Given the description of an element on the screen output the (x, y) to click on. 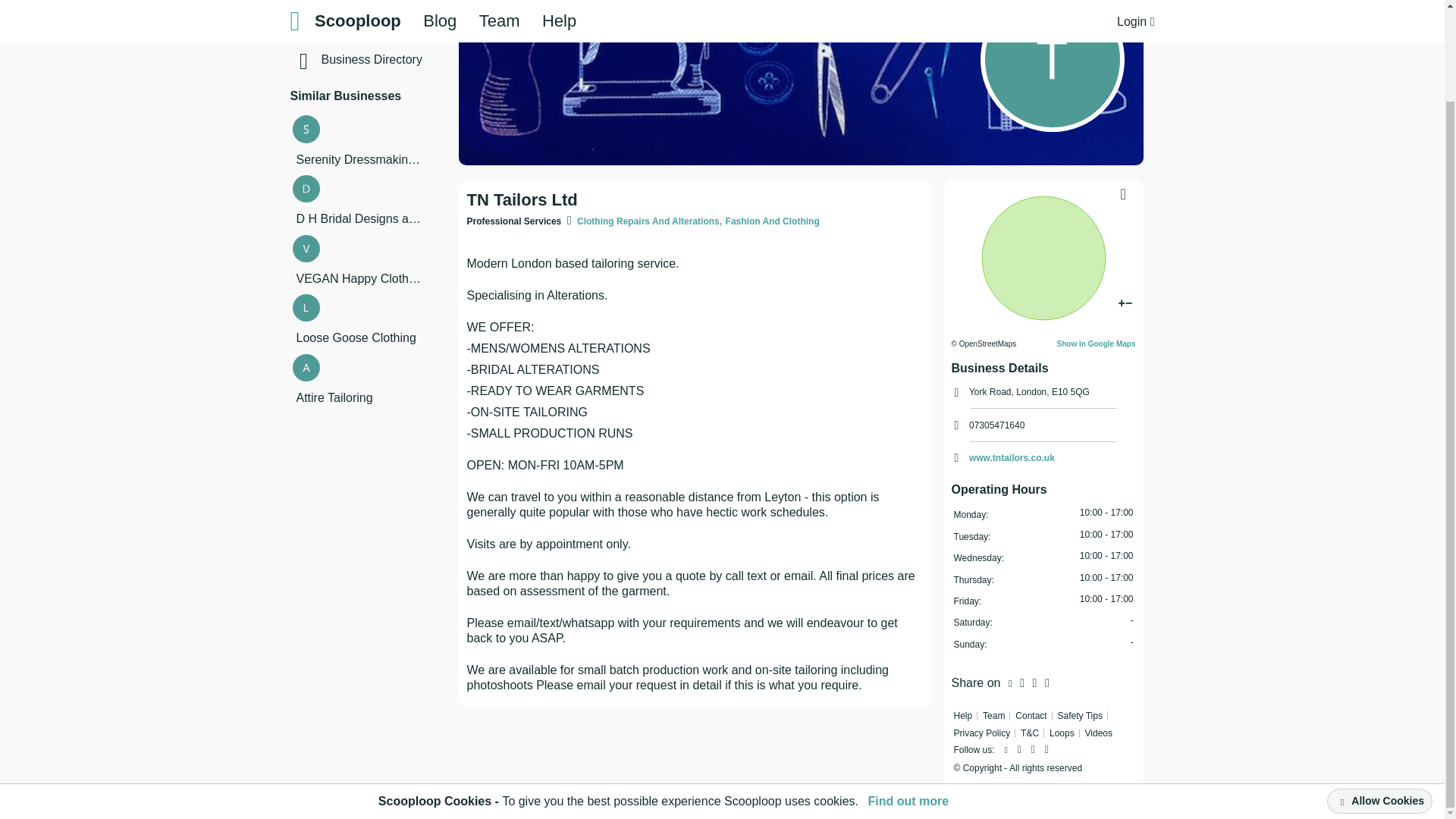
Business Directory (394, 59)
Serenity Dressmaking and Alterations (357, 159)
www.tntailors.co.uk (1011, 457)
VEGAN Happy Clothing (357, 279)
Contact (1030, 715)
Share on Twitter (1020, 682)
Loops (394, 1)
Videos (394, 28)
D H Bridal Designs and Tailoring Services (357, 218)
Loose Goose Clothing (357, 338)
Clothing Repairs And Alterations, (649, 221)
Attire Tailoring (357, 397)
Help (962, 715)
Fashion And Clothing (772, 221)
Team (993, 715)
